Given the description of an element on the screen output the (x, y) to click on. 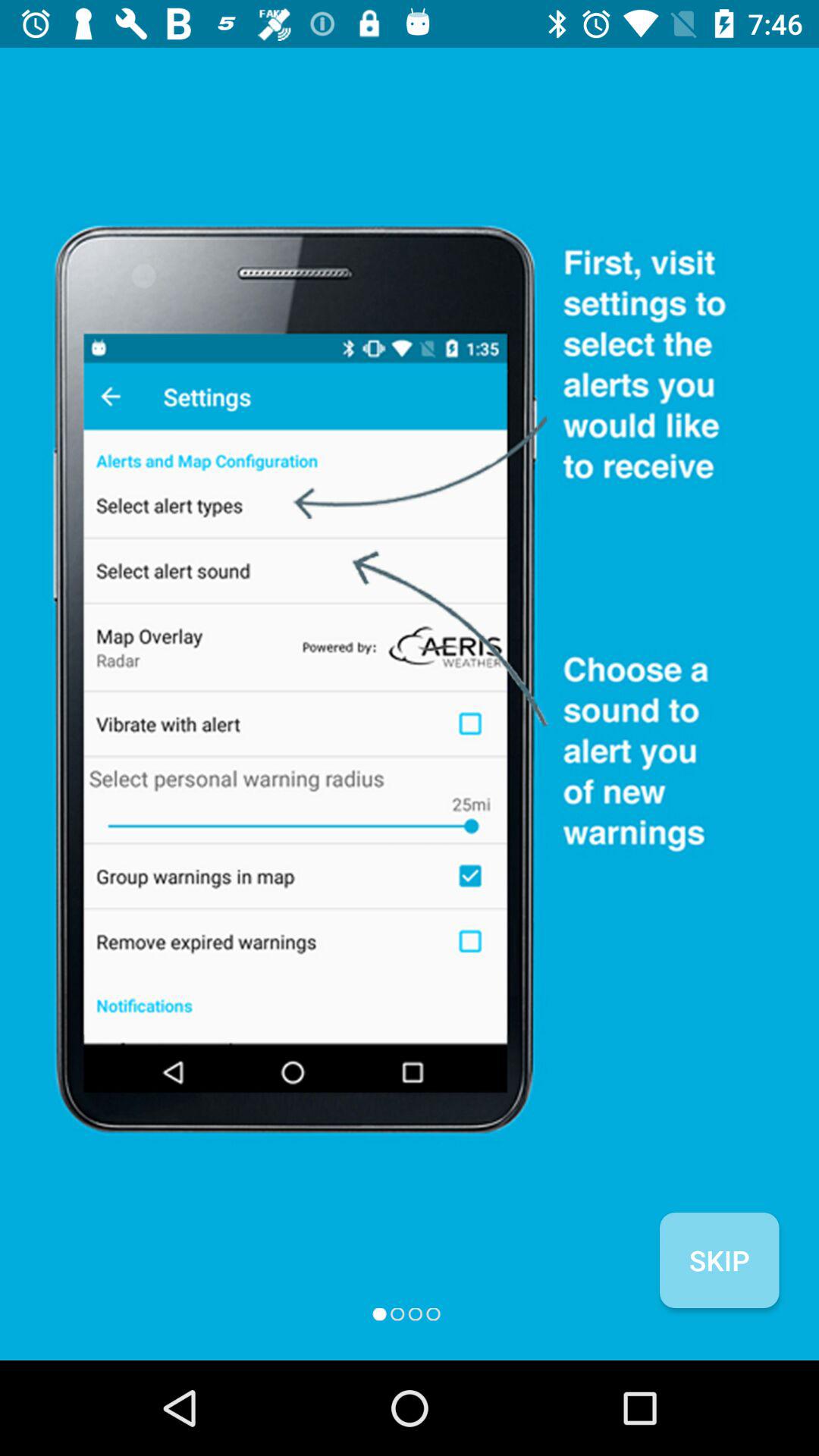
swipe until the skip icon (719, 1260)
